Given the description of an element on the screen output the (x, y) to click on. 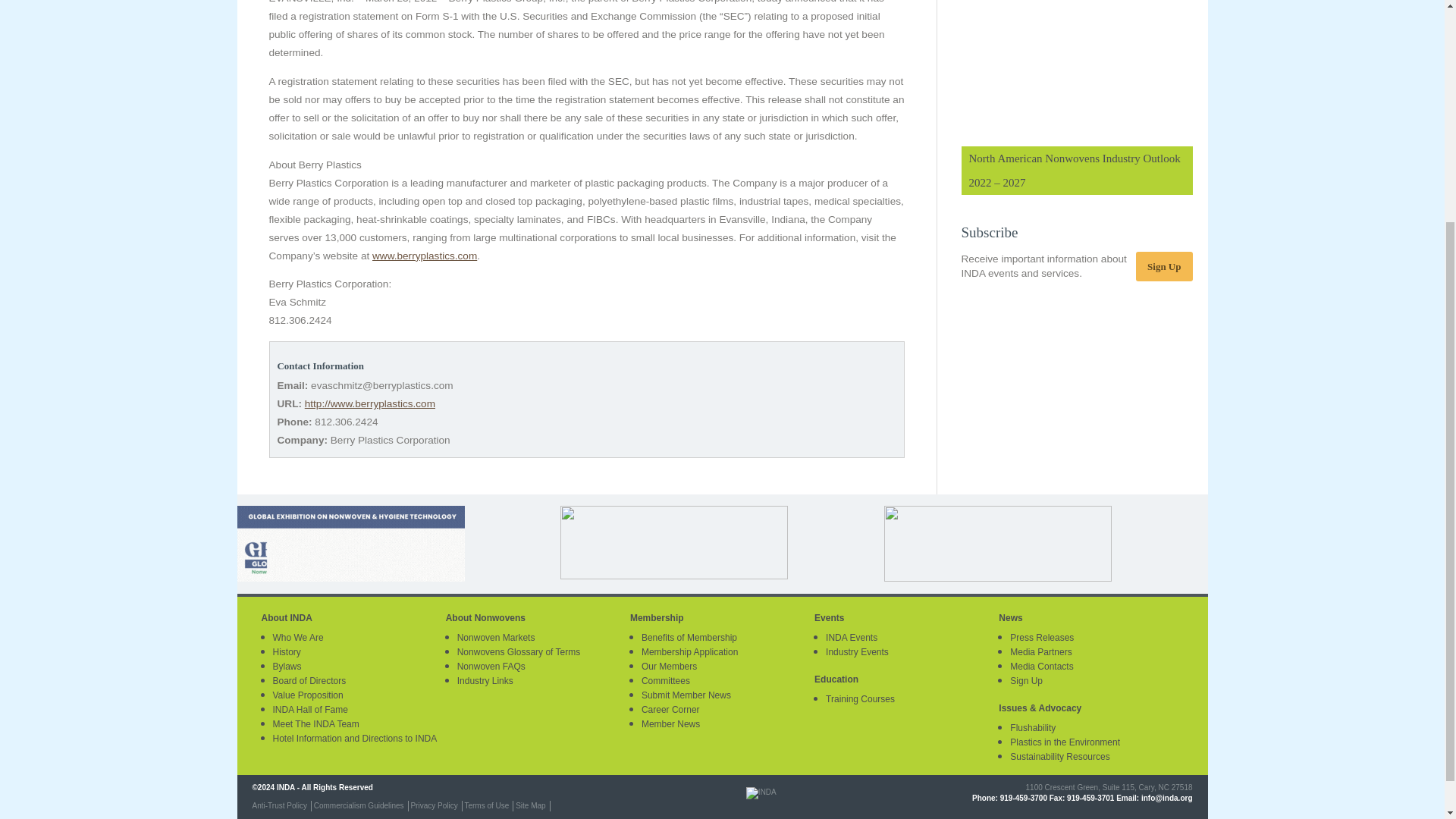
Berry Plastics (424, 255)
